Given the description of an element on the screen output the (x, y) to click on. 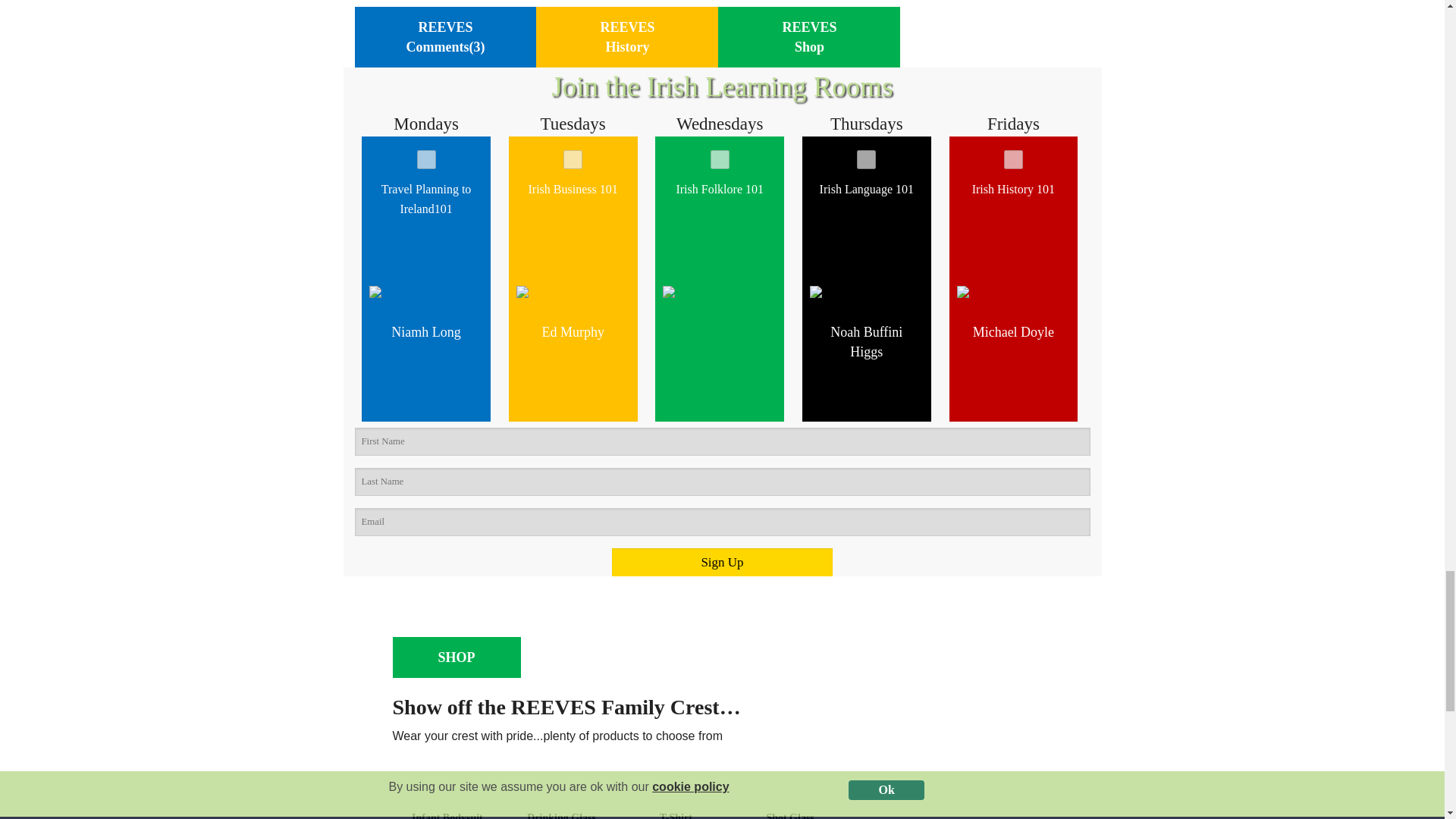
Infant Bodysuit (447, 799)
Drinking Glass (560, 799)
Infant Bodysuit (447, 814)
Shot Glass (790, 799)
T-Shirt (675, 814)
Travel Planning to Ireland101 (425, 158)
T-Shirt (675, 799)
Shot Glass (790, 814)
Irish Language 101 (866, 158)
Irish Folklore 101 (719, 158)
